Given the description of an element on the screen output the (x, y) to click on. 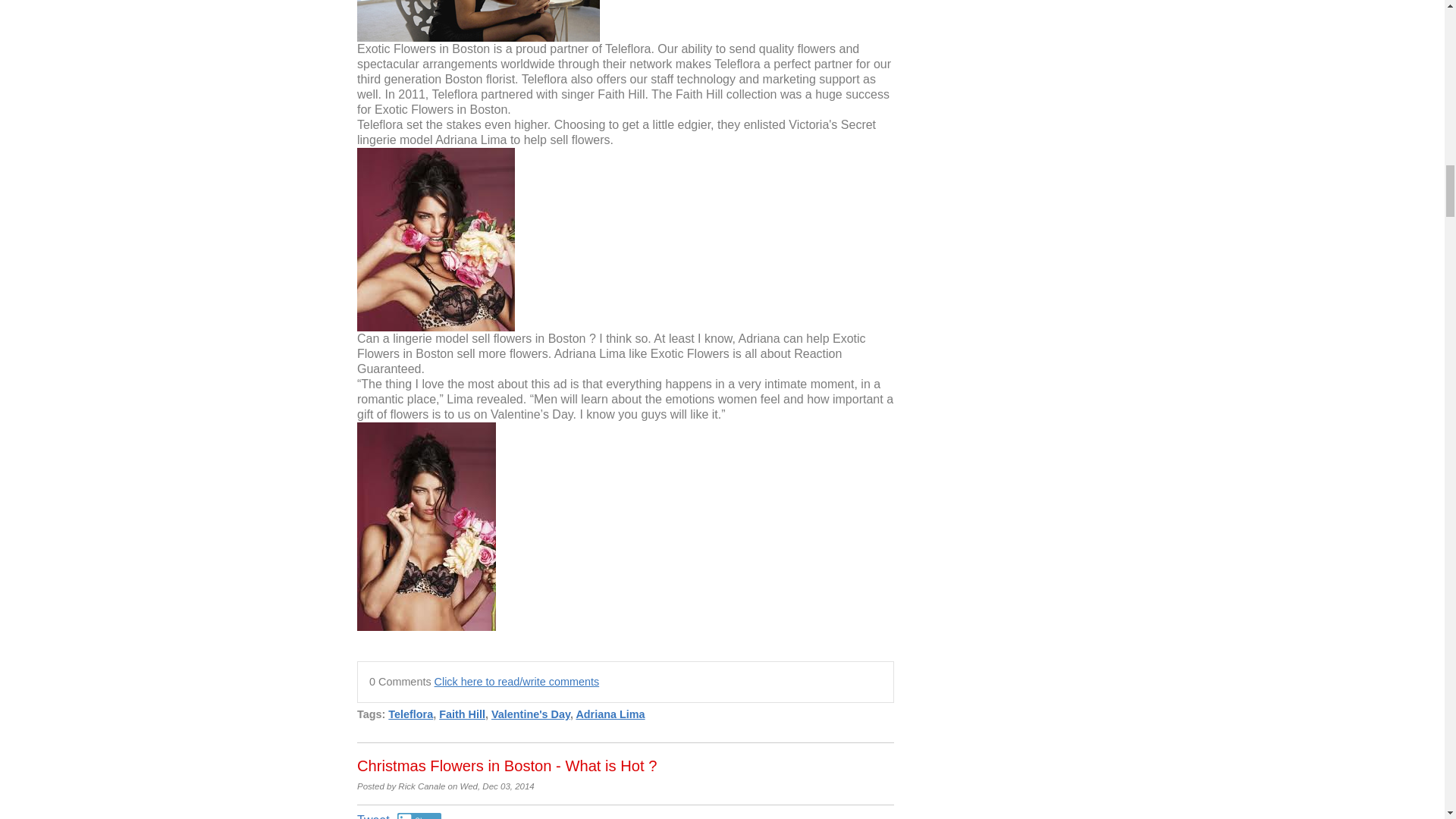
Valentine's Day (531, 714)
Teleflora (410, 714)
Faith Hill (461, 714)
